Given the description of an element on the screen output the (x, y) to click on. 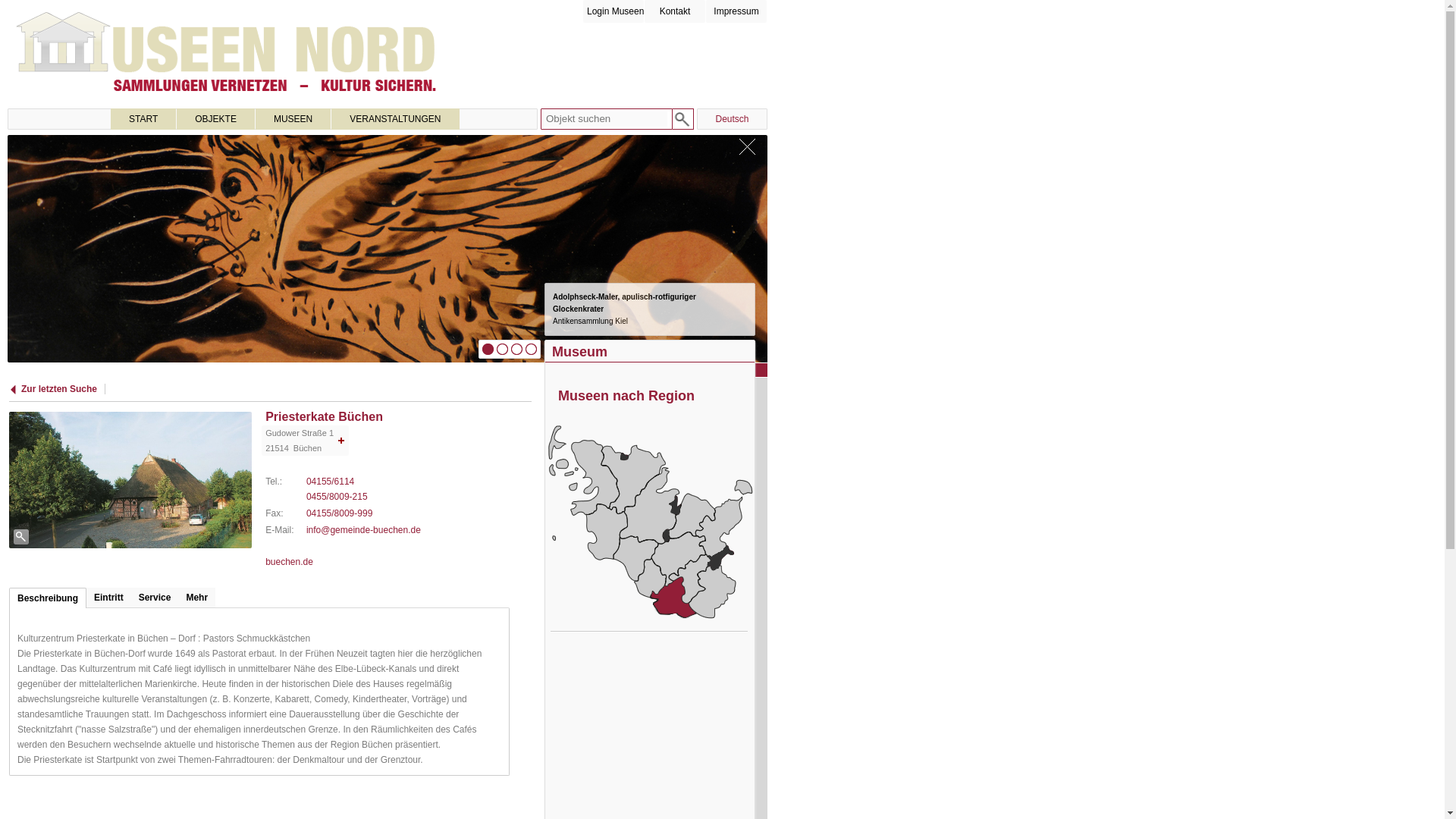
OBJEKTE (215, 118)
Impressum (736, 11)
VERANSTALTUNGEN (394, 118)
MUSEEN (293, 118)
Mehr (196, 597)
Login Museen (613, 11)
buechen.de (288, 561)
START (143, 118)
Eintritt (108, 597)
Kontakt (674, 11)
